Given the description of an element on the screen output the (x, y) to click on. 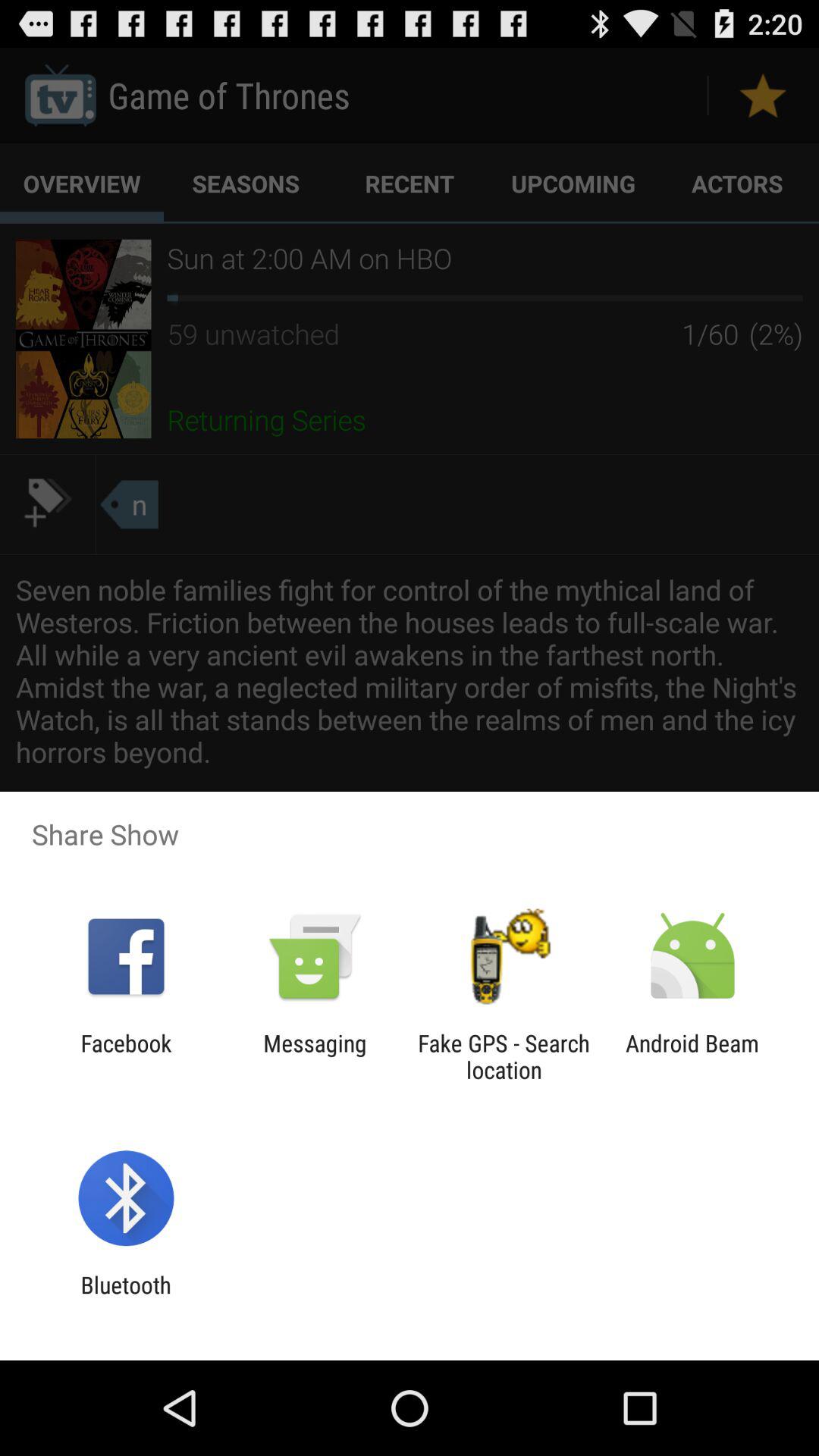
turn off icon next to the messaging (503, 1056)
